Given the description of an element on the screen output the (x, y) to click on. 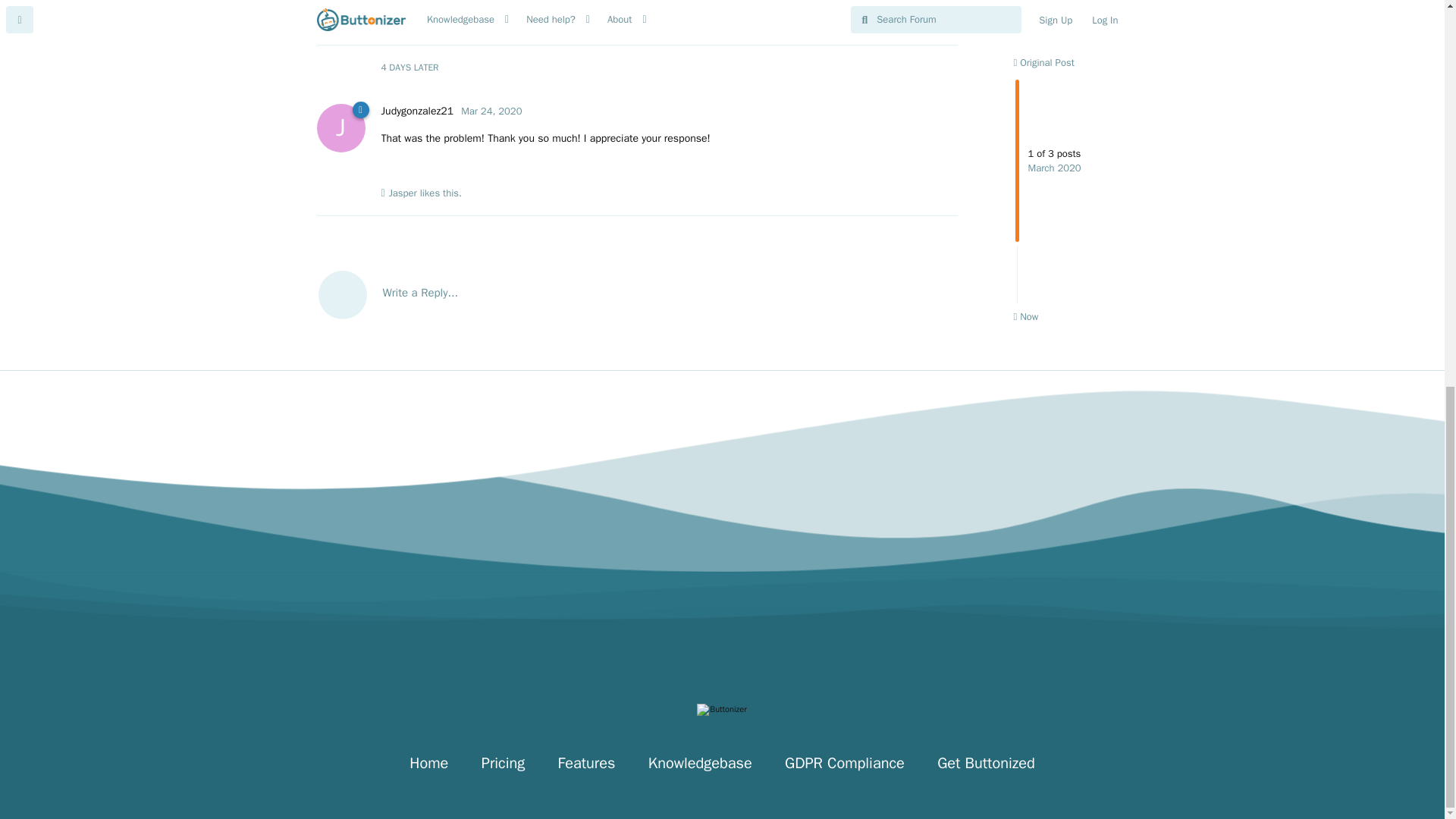
Tuesday, March 24, 2020 8:35 AM (491, 110)
